Given the description of an element on the screen output the (x, y) to click on. 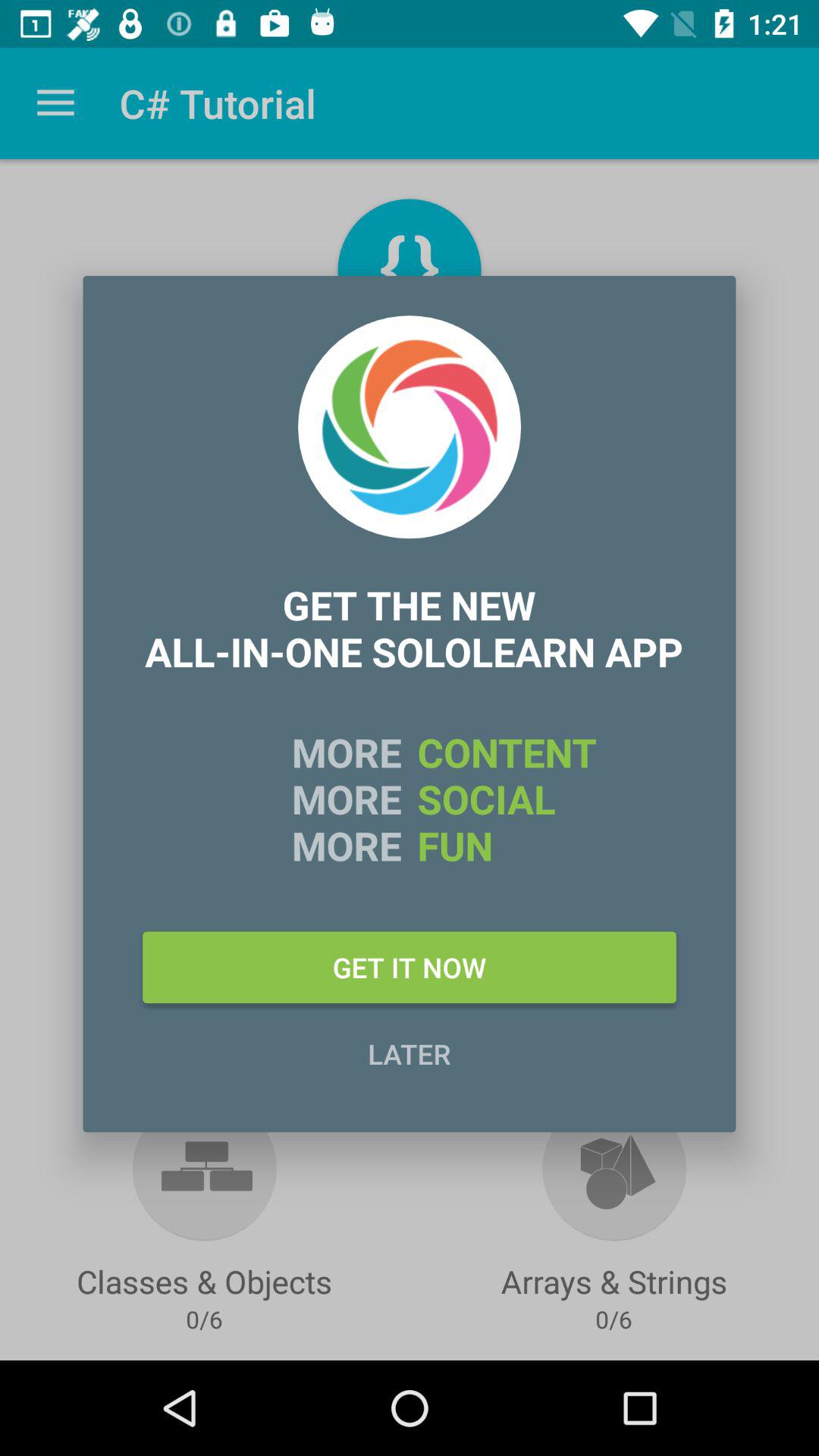
launch item above the later (409, 967)
